Given the description of an element on the screen output the (x, y) to click on. 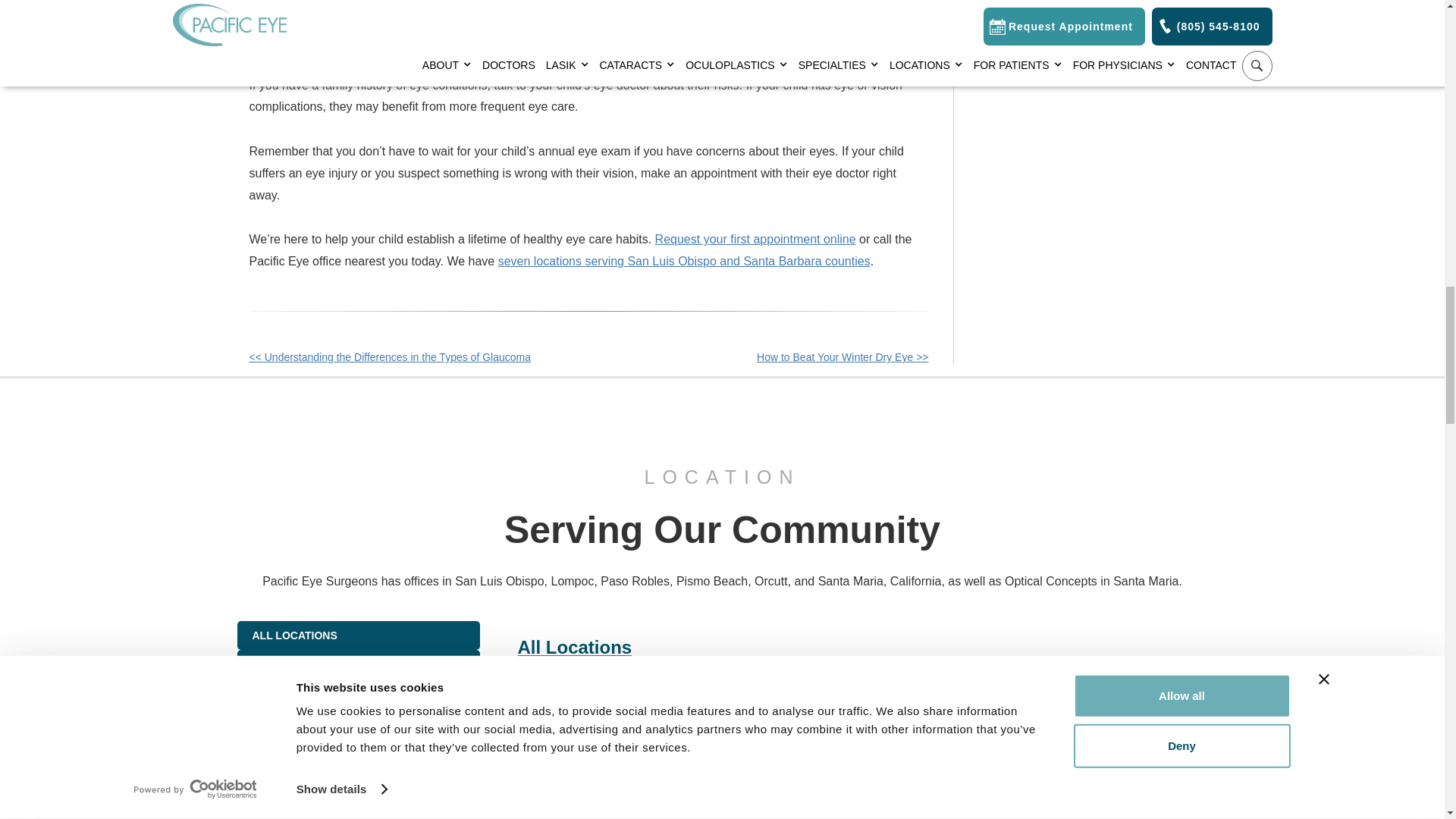
Google Map (861, 742)
Paso Robles (357, 759)
Pismo Beach (357, 800)
Orcutt (357, 715)
Lompoc (357, 671)
All Locations (357, 635)
